Given the description of an element on the screen output the (x, y) to click on. 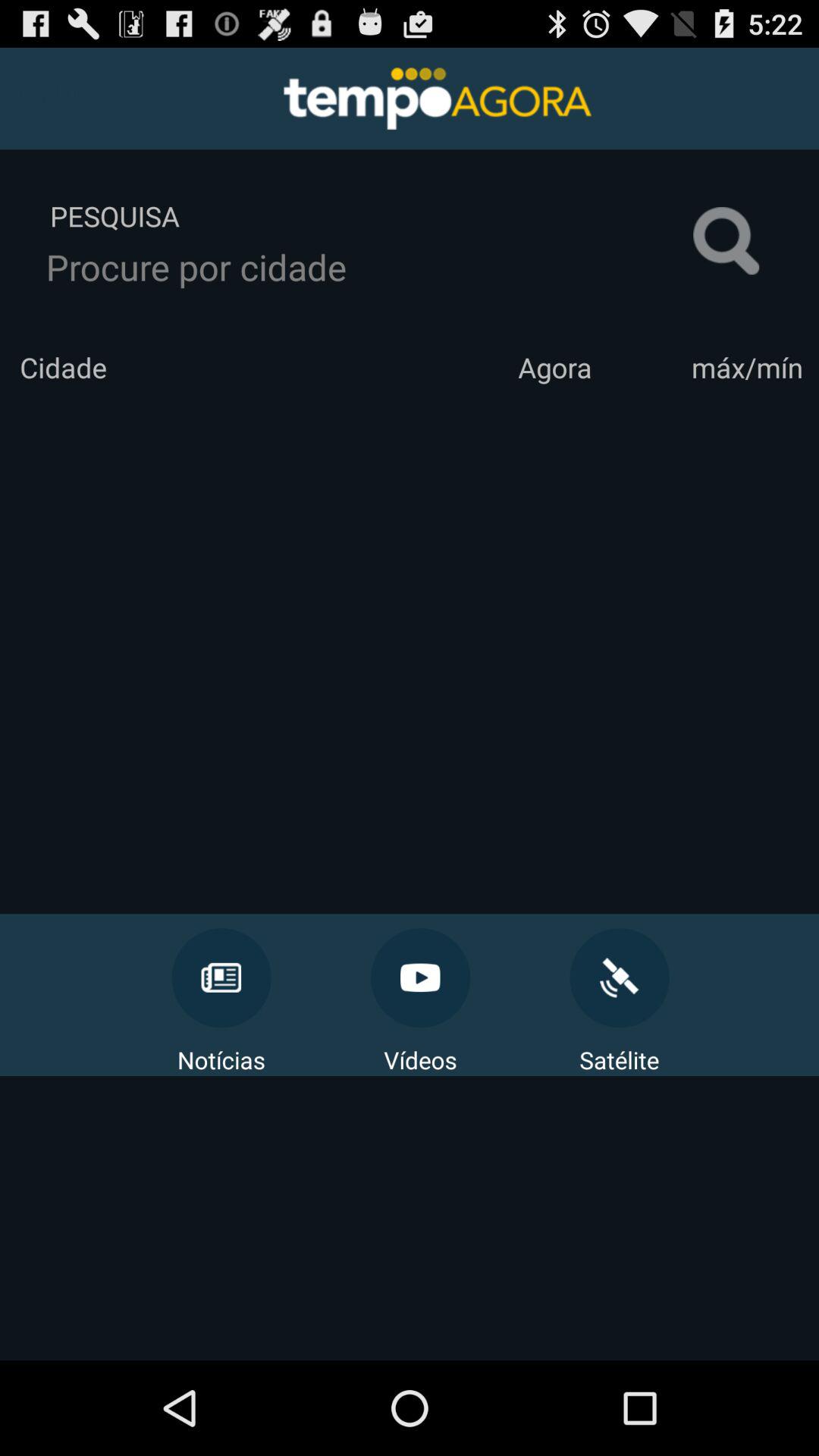
turn on the item next to pesquisa icon (726, 240)
